Given the description of an element on the screen output the (x, y) to click on. 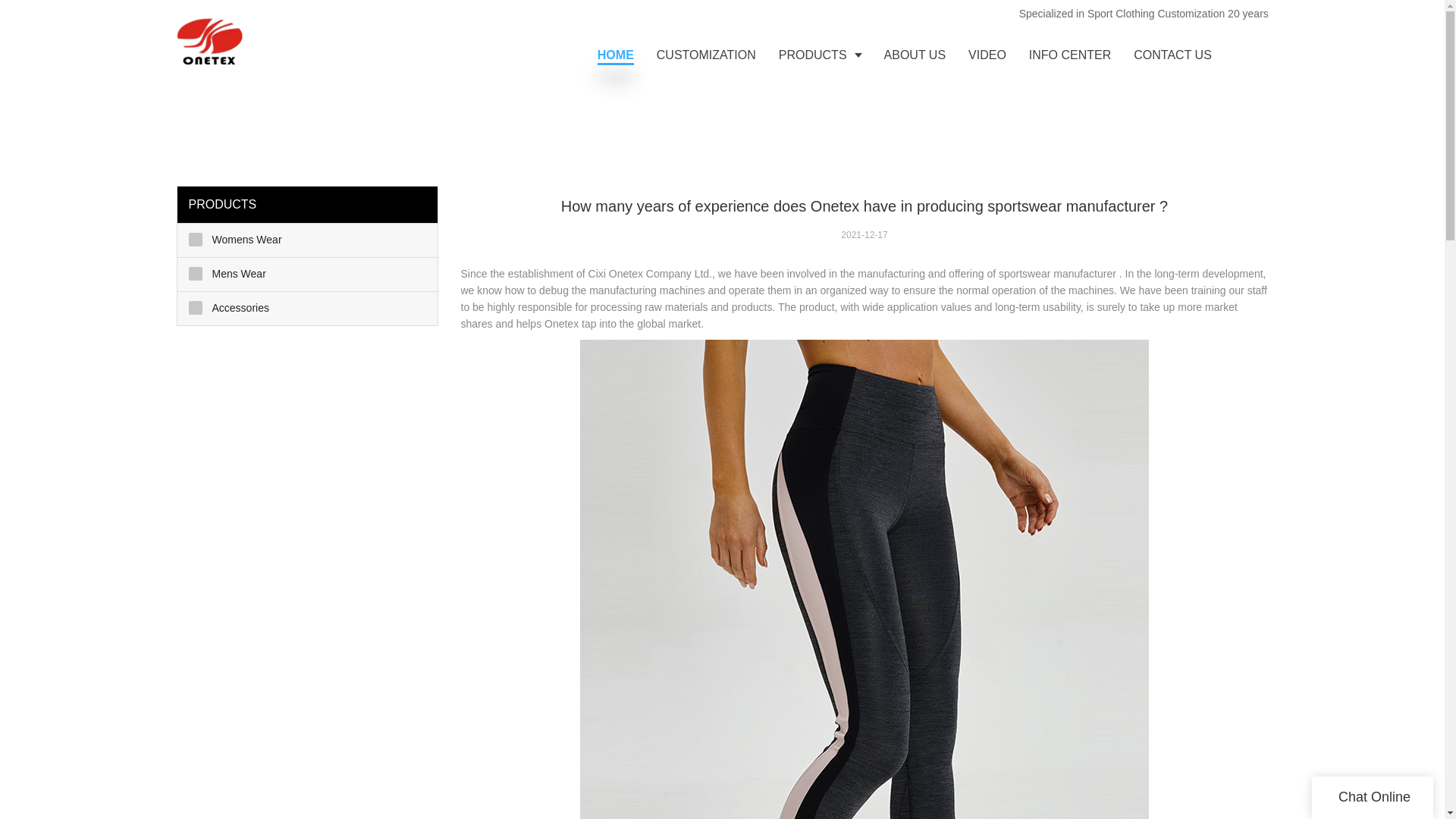
Womens Wear (307, 240)
CONTACT US (1172, 55)
Accessories (307, 308)
ABOUT US (915, 55)
Mens Wear (307, 274)
CUSTOMIZATION (706, 55)
VIDEO (986, 55)
INFO CENTER (1069, 55)
PRODUCTS (819, 55)
HOME (615, 55)
